Given the description of an element on the screen output the (x, y) to click on. 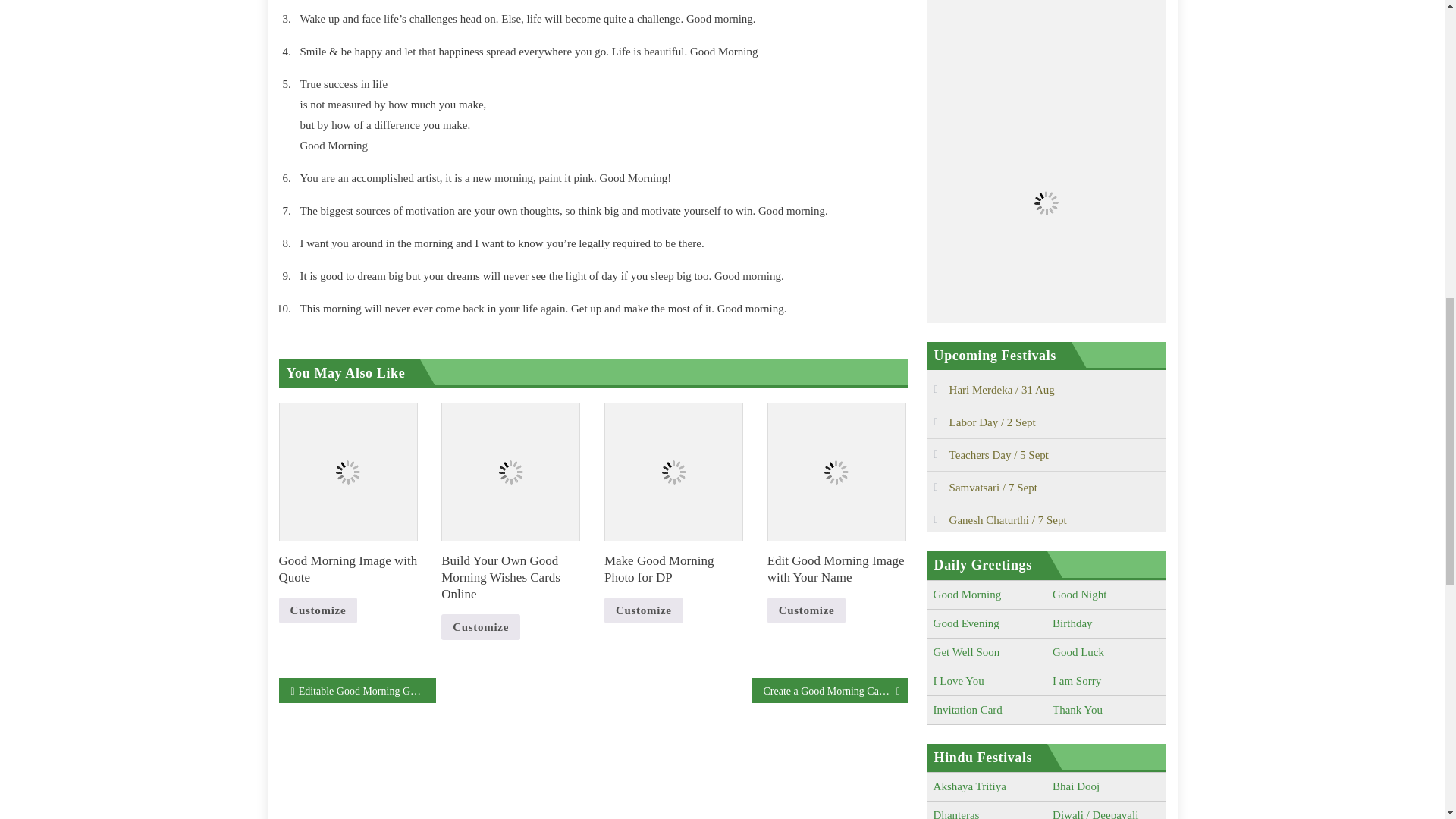
Get Well Soon (966, 652)
Good Night (1079, 594)
Happy Birthday (1072, 623)
I am Sorry (1076, 680)
Dhanteras (956, 814)
Good Morning (967, 594)
Thank You (1077, 709)
Bhai Dooj (1075, 786)
Invitation Card (968, 709)
I Love You (958, 680)
